Given the description of an element on the screen output the (x, y) to click on. 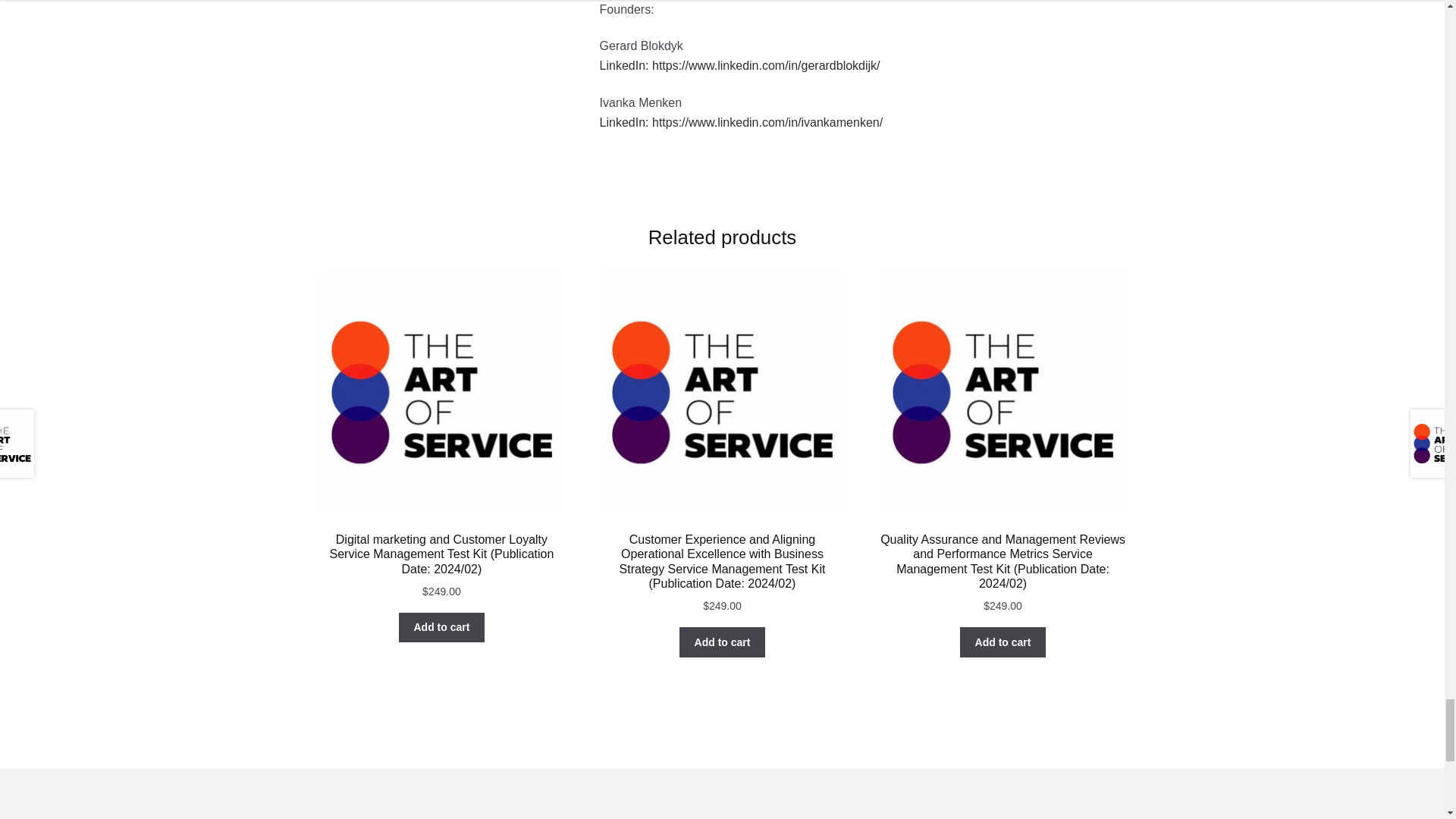
Add to cart (1002, 642)
Add to cart (722, 642)
Add to cart (441, 627)
